Given the description of an element on the screen output the (x, y) to click on. 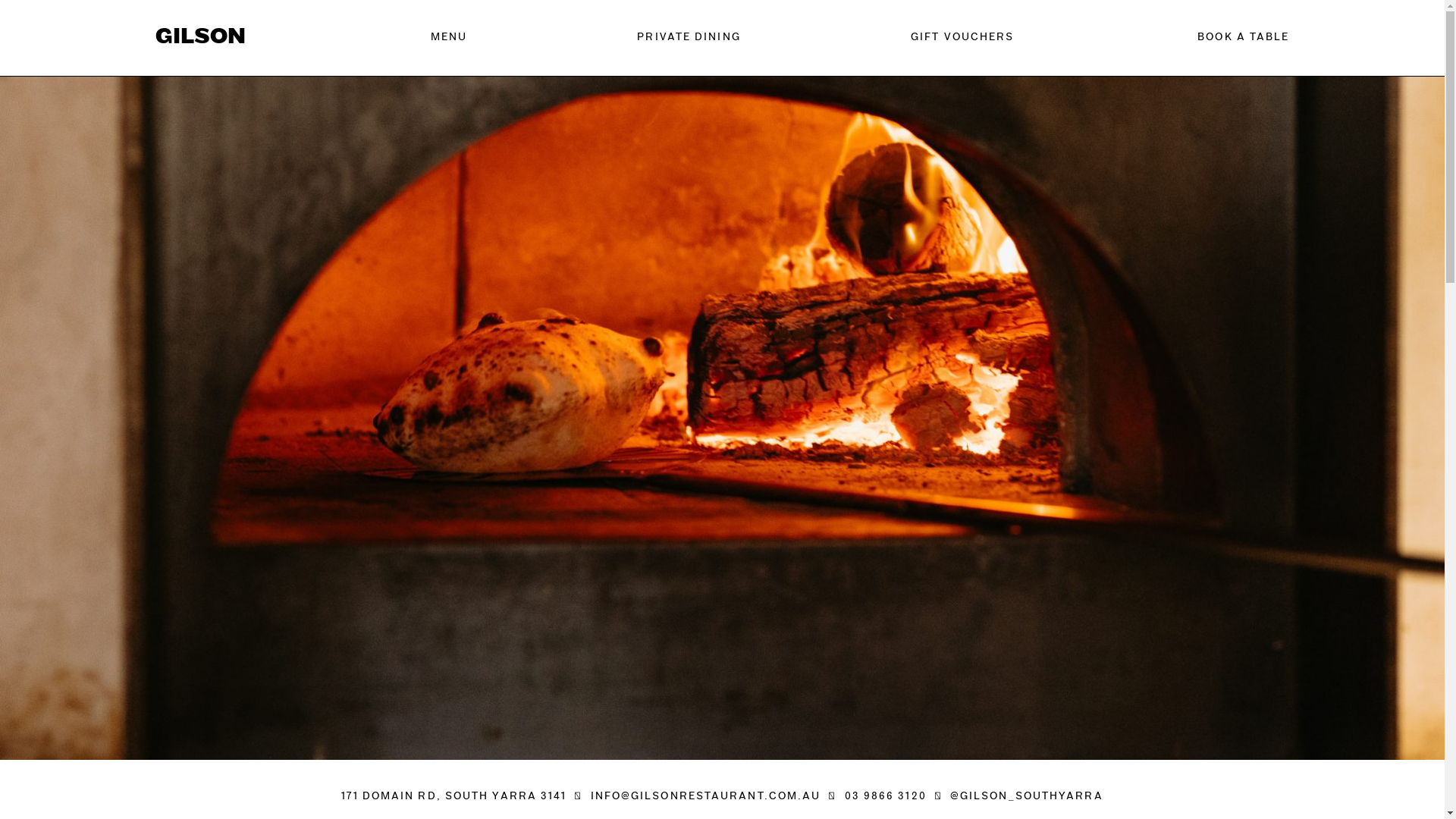
@GILSON_SOUTHYARRA Element type: text (1026, 796)
GILSON Element type: text (199, 37)
MENU Element type: text (448, 37)
171 DOMAIN RD, SOUTH YARRA 3141 Element type: text (453, 796)
GIFT VOUCHERS Element type: text (961, 37)
INFO@GILSONRESTAURANT.COM.AU Element type: text (705, 796)
PRIVATE DINING Element type: text (688, 37)
03 9866 3120 Element type: text (885, 796)
BOOK A TABLE Element type: text (1198, 37)
